Given the description of an element on the screen output the (x, y) to click on. 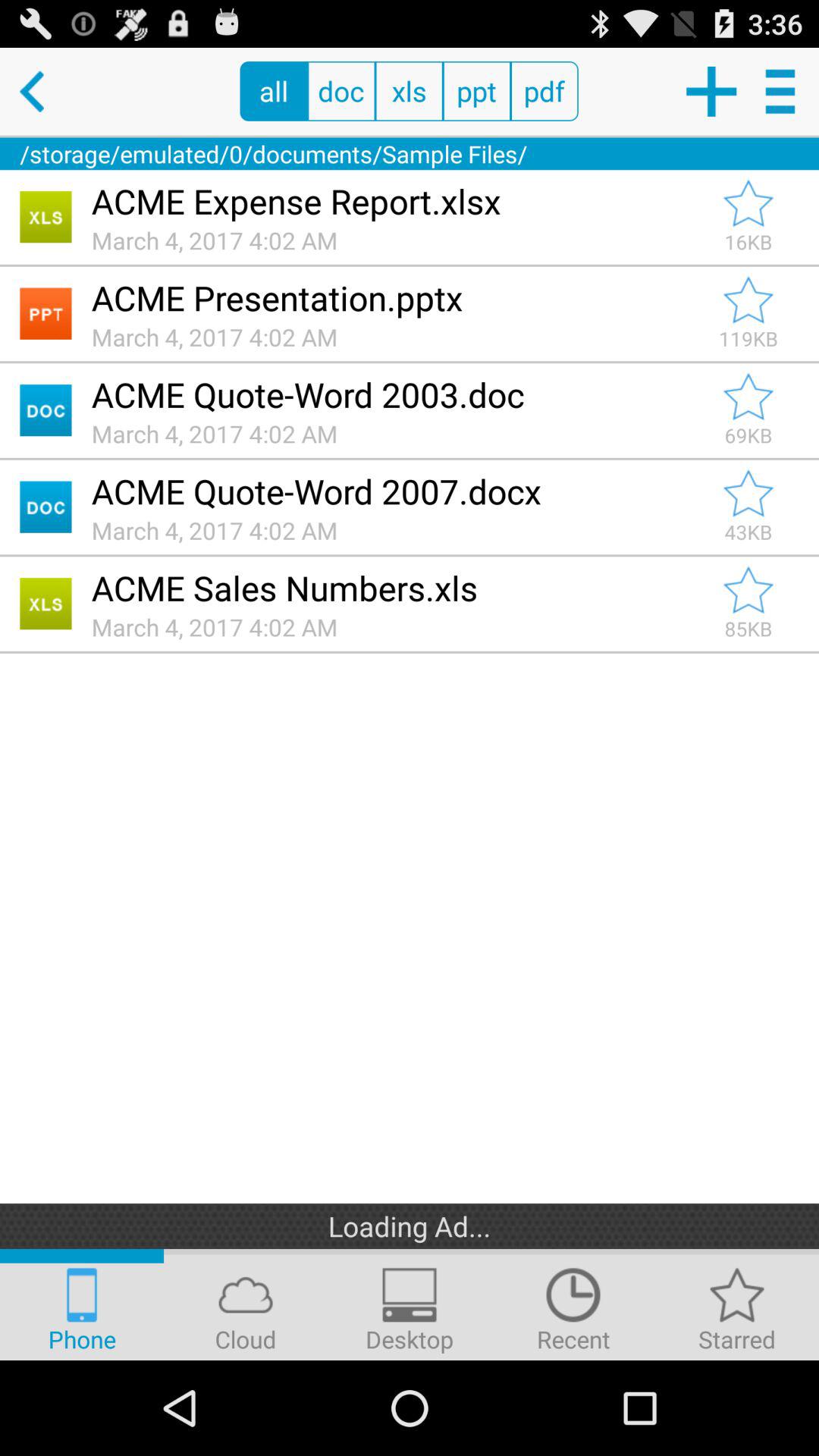
turn off icon to the left of the pdf icon (476, 91)
